Given the description of an element on the screen output the (x, y) to click on. 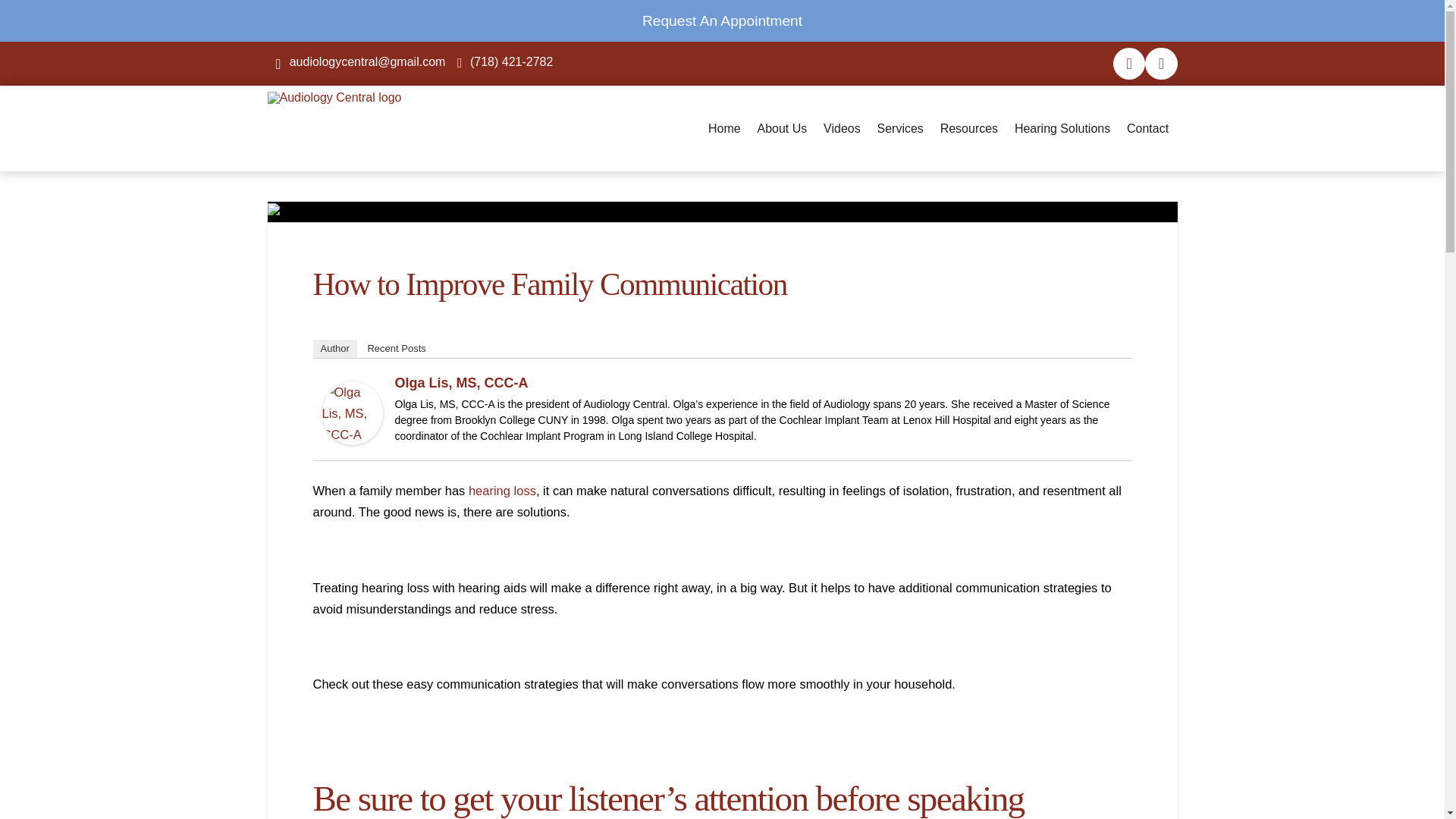
Hearing Solutions (1063, 128)
Contact (1148, 128)
Olga Lis, MS, CCC-A (351, 411)
Recent Posts (395, 348)
Author (334, 348)
Videos (842, 128)
Services (900, 128)
Home (724, 128)
Olga Lis, MS, CCC-A (460, 382)
Resources (968, 128)
